Given the description of an element on the screen output the (x, y) to click on. 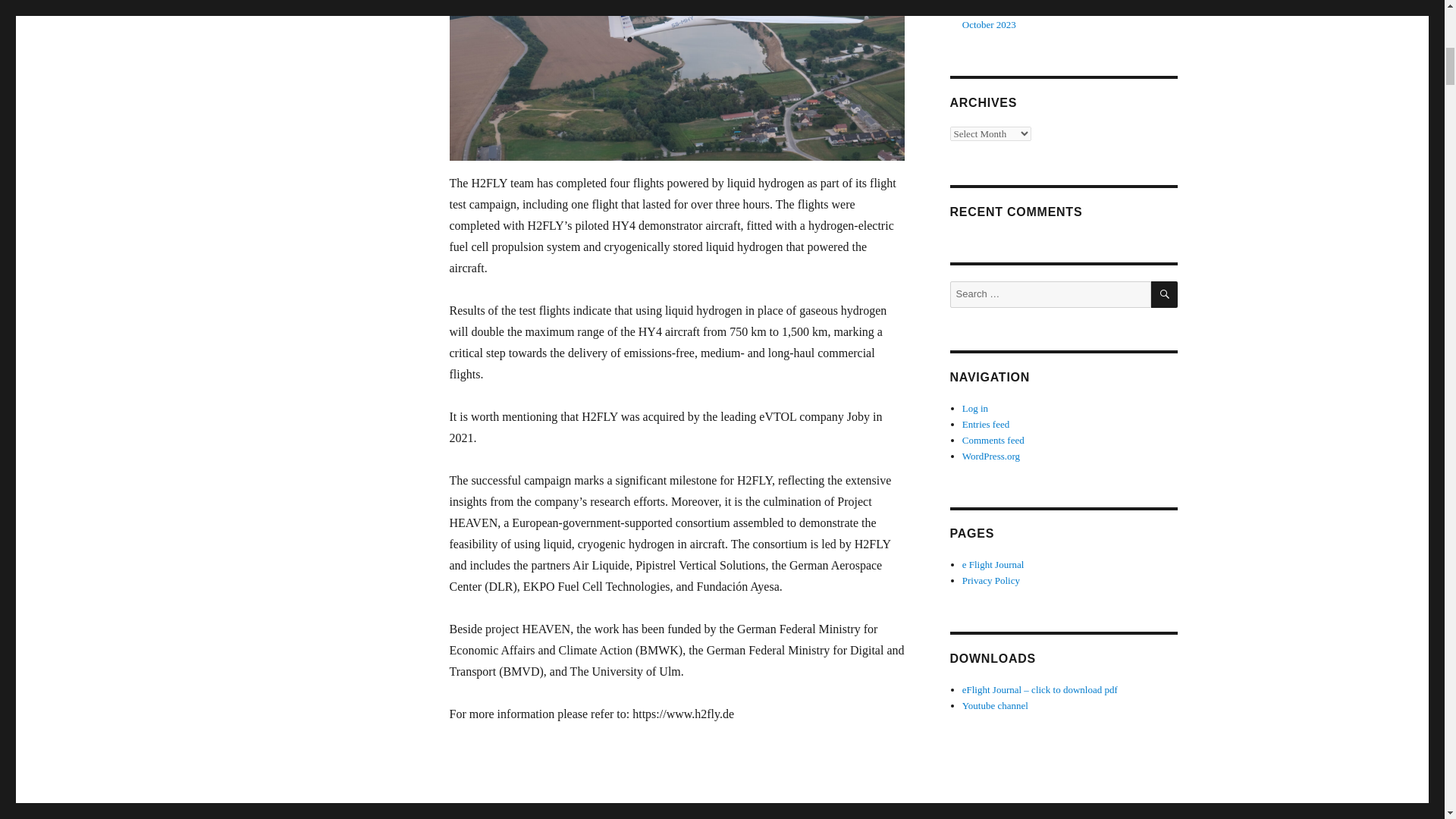
Wisk and Archer Formed Partnership instead of the Litigation (534, 815)
